Given the description of an element on the screen output the (x, y) to click on. 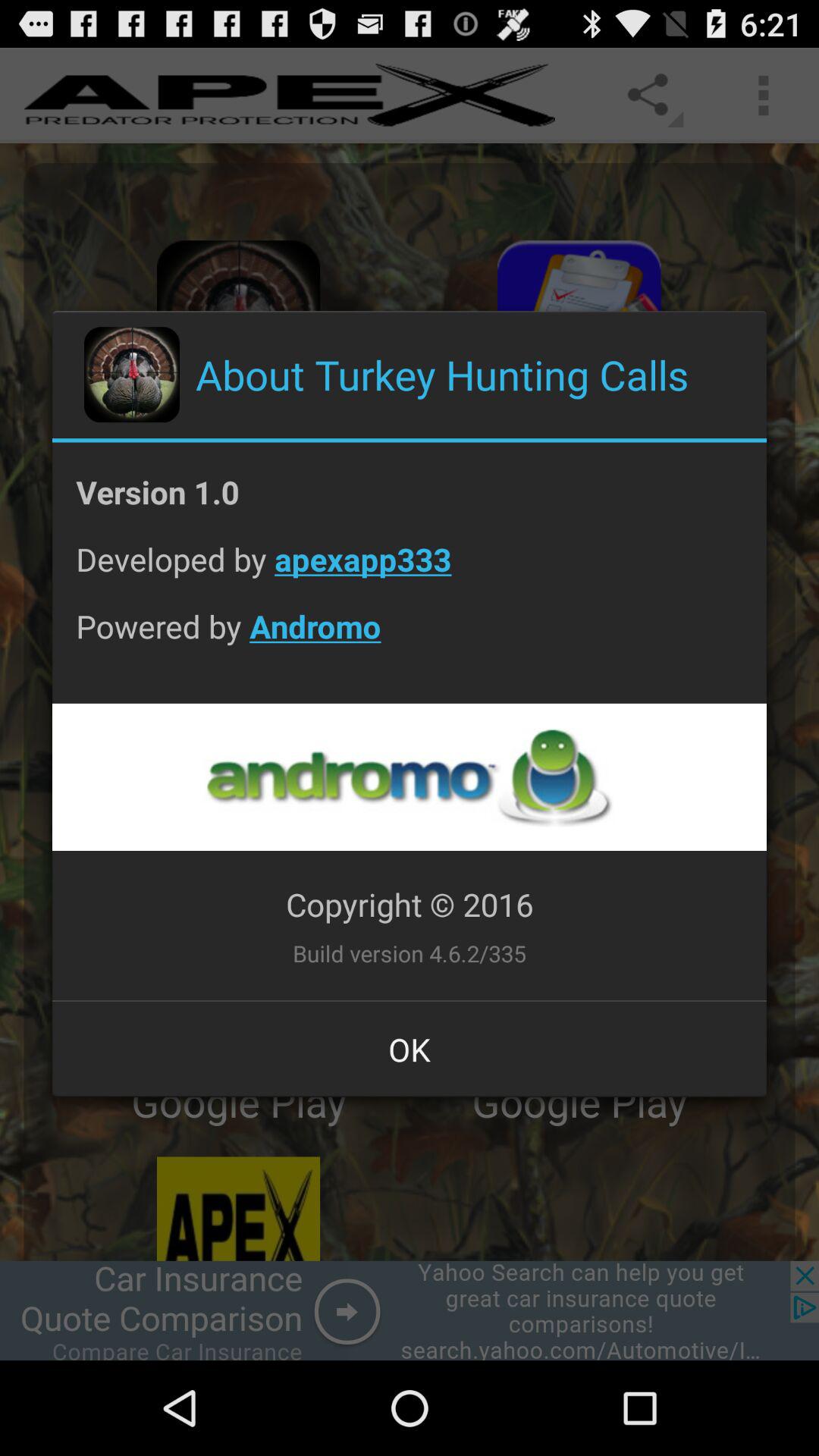
flip to powered by andromo app (409, 637)
